Given the description of an element on the screen output the (x, y) to click on. 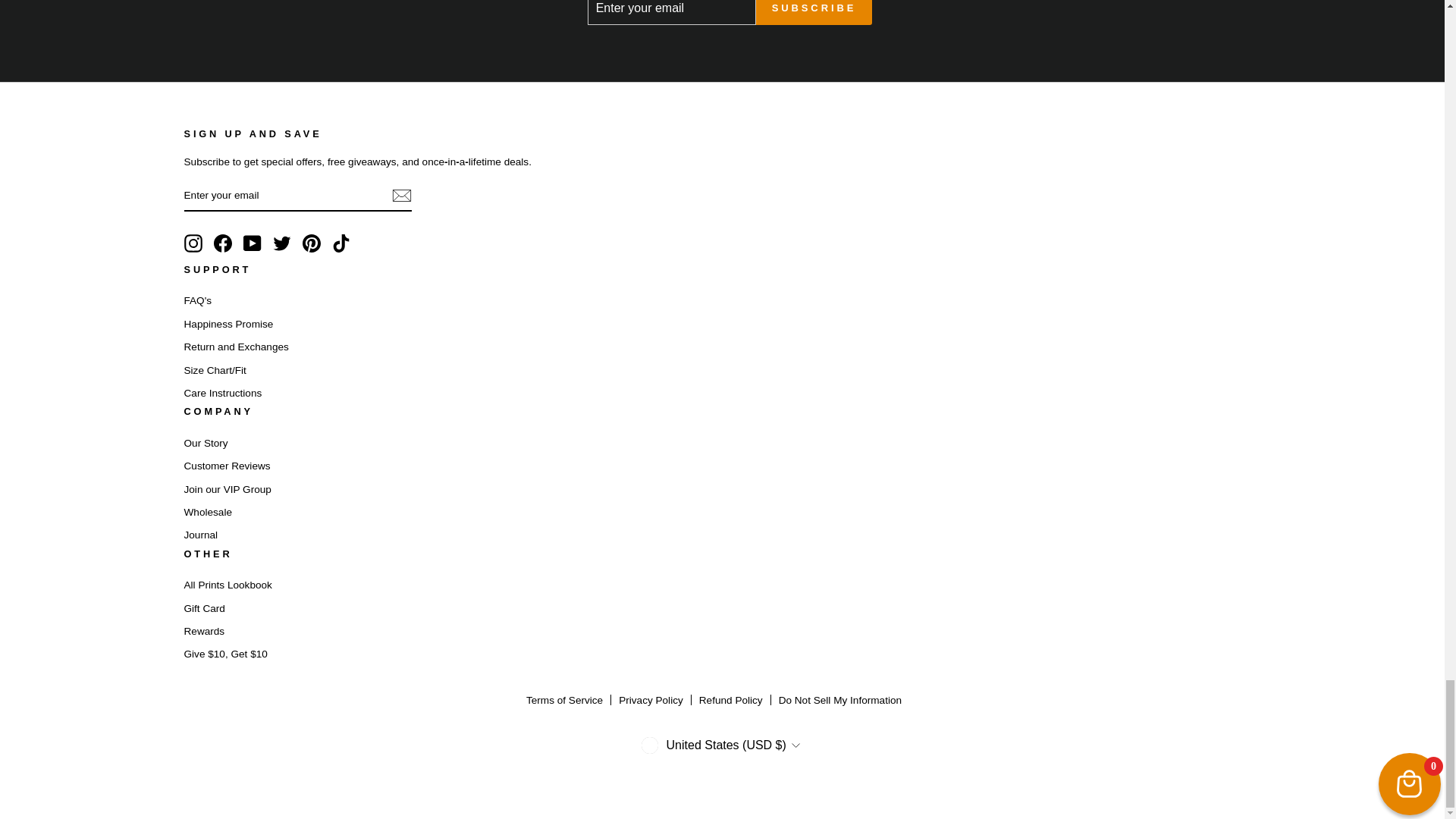
Free Birdees on Twitter (282, 243)
Free Birdees on Facebook (222, 243)
twitter (282, 243)
Free Birdees on TikTok (340, 243)
Free Birdees on Pinterest (310, 243)
Free Birdees on Instagram (192, 243)
instagram (192, 243)
icon-email (400, 195)
Free Birdees on YouTube (251, 243)
